Given the description of an element on the screen output the (x, y) to click on. 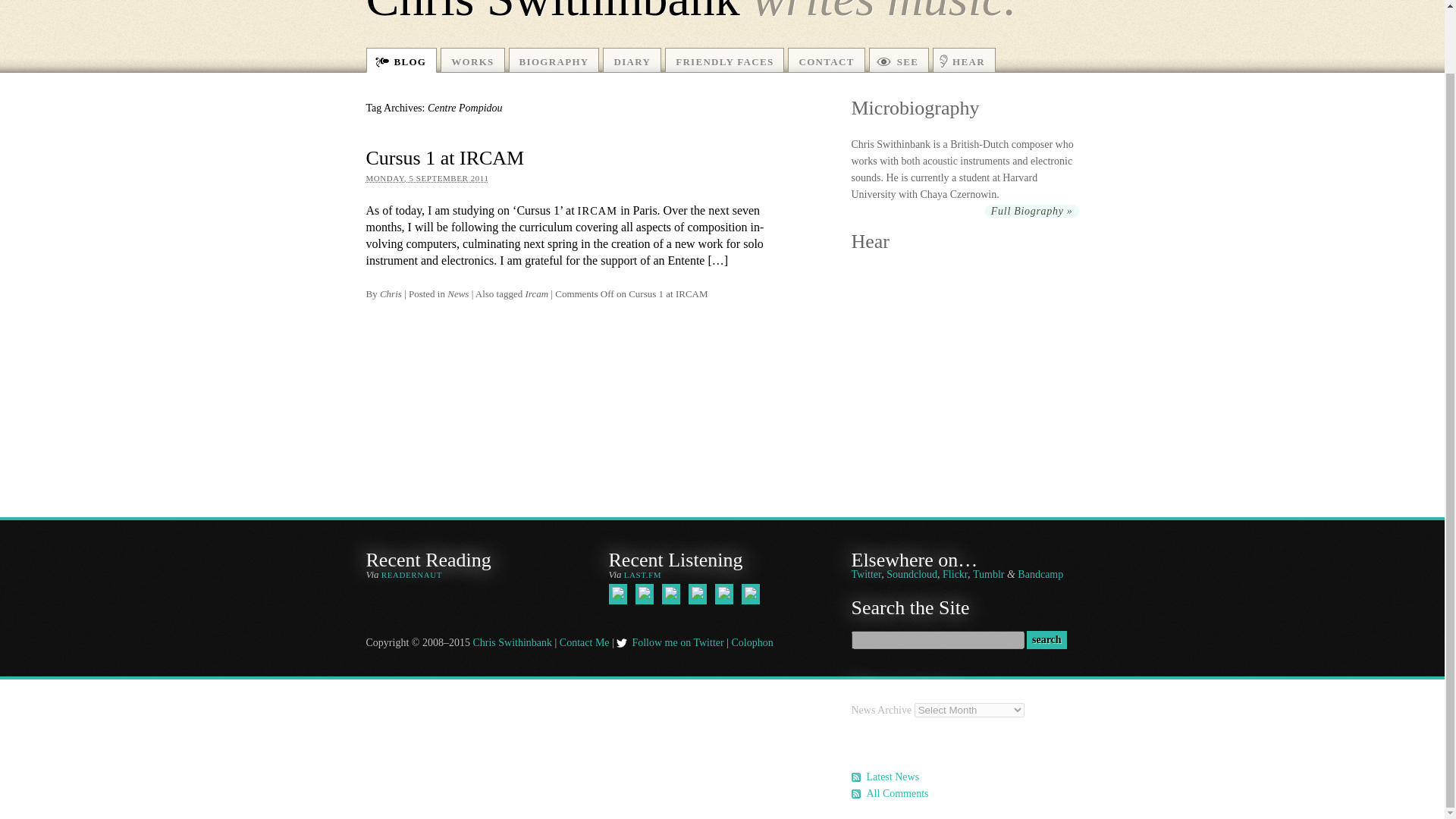
FRIENDLY FACES (724, 59)
DIARY (631, 59)
Ircam (536, 293)
Chris Swithinbank (511, 642)
News (457, 293)
SEE (898, 59)
Cursus 1 at IRCAM (444, 157)
Soundcloud (911, 573)
BLOG (400, 59)
Colophon (751, 642)
